Given the description of an element on the screen output the (x, y) to click on. 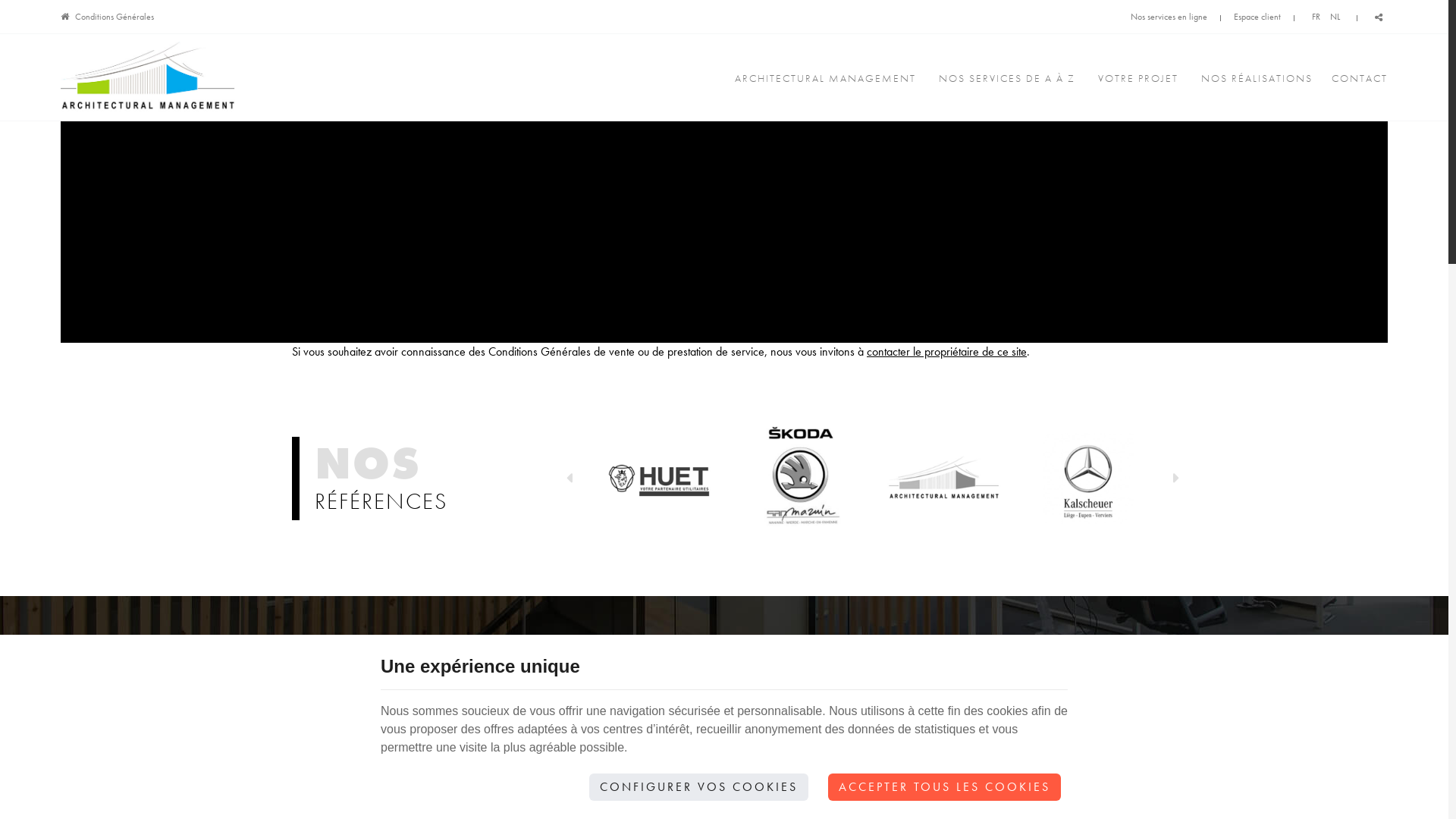
ARCHITECTURAL MANAGEMENT Element type: text (825, 77)
VOTRE PROJET Element type: text (1137, 77)
Bureaux Architectural Management Element type: hover (944, 476)
Espace client Element type: text (1256, 16)
CONTACT Element type: text (1355, 77)
Showroom Huet poids Lourds Element type: hover (655, 476)
Architectural Management Element type: hover (147, 76)
NL Element type: text (1334, 16)
CONFIGURER VOS COOKIES Element type: text (698, 786)
ACCEPTER TOUS LES COOKIES Element type: text (944, 786)
FR Element type: text (1315, 16)
Skoda Mazuin Naninne Element type: hover (799, 476)
Nos services en ligne Element type: text (1168, 16)
